Given the description of an element on the screen output the (x, y) to click on. 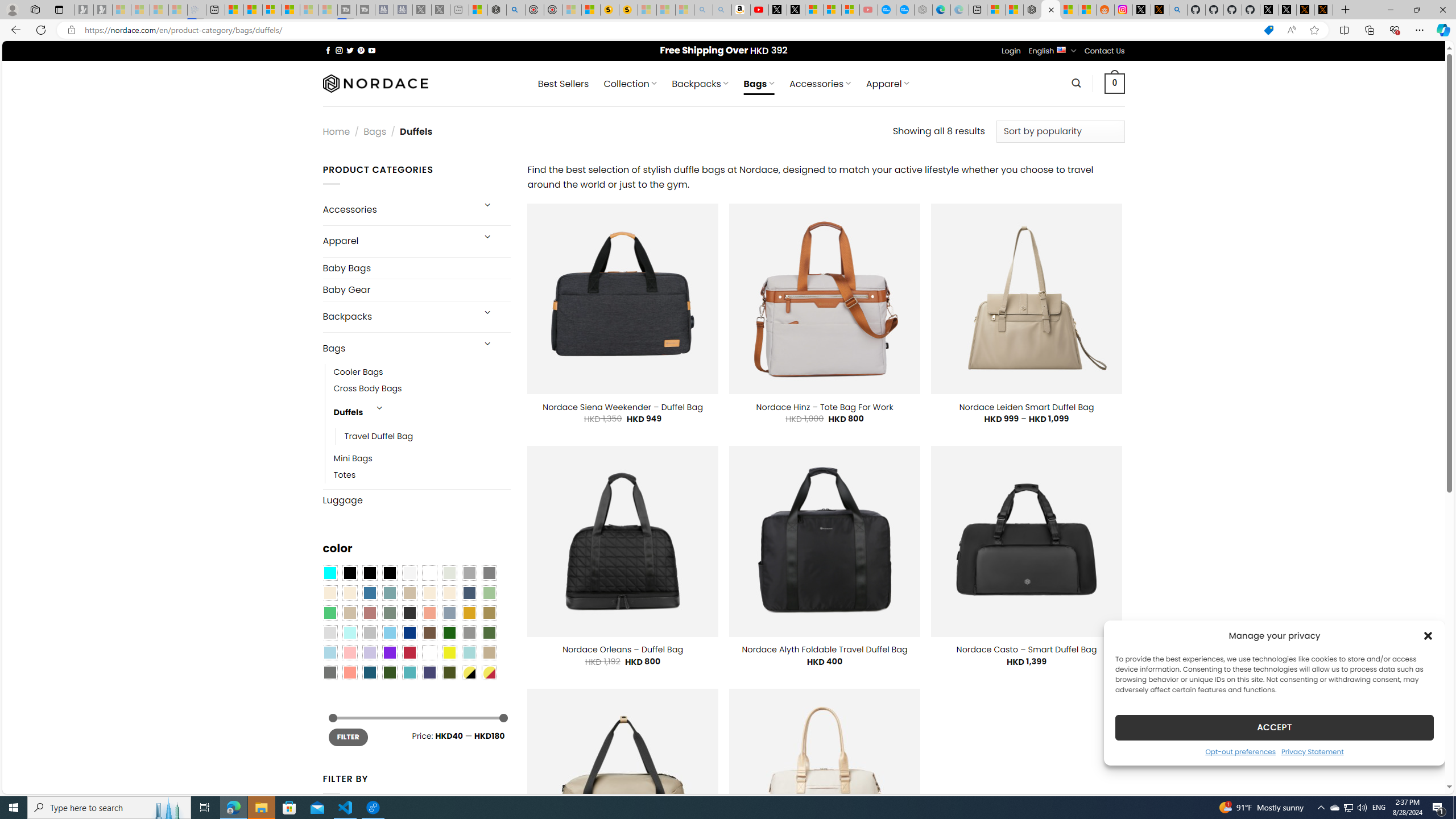
Cream (449, 592)
Aqua Blue (329, 572)
Gloom - YouTube - Sleeping (868, 9)
X Privacy Policy (1324, 9)
help.x.com | 524: A timeout occurred (1159, 9)
Follow on Twitter (349, 49)
poe - Search (515, 9)
